Given the description of an element on the screen output the (x, y) to click on. 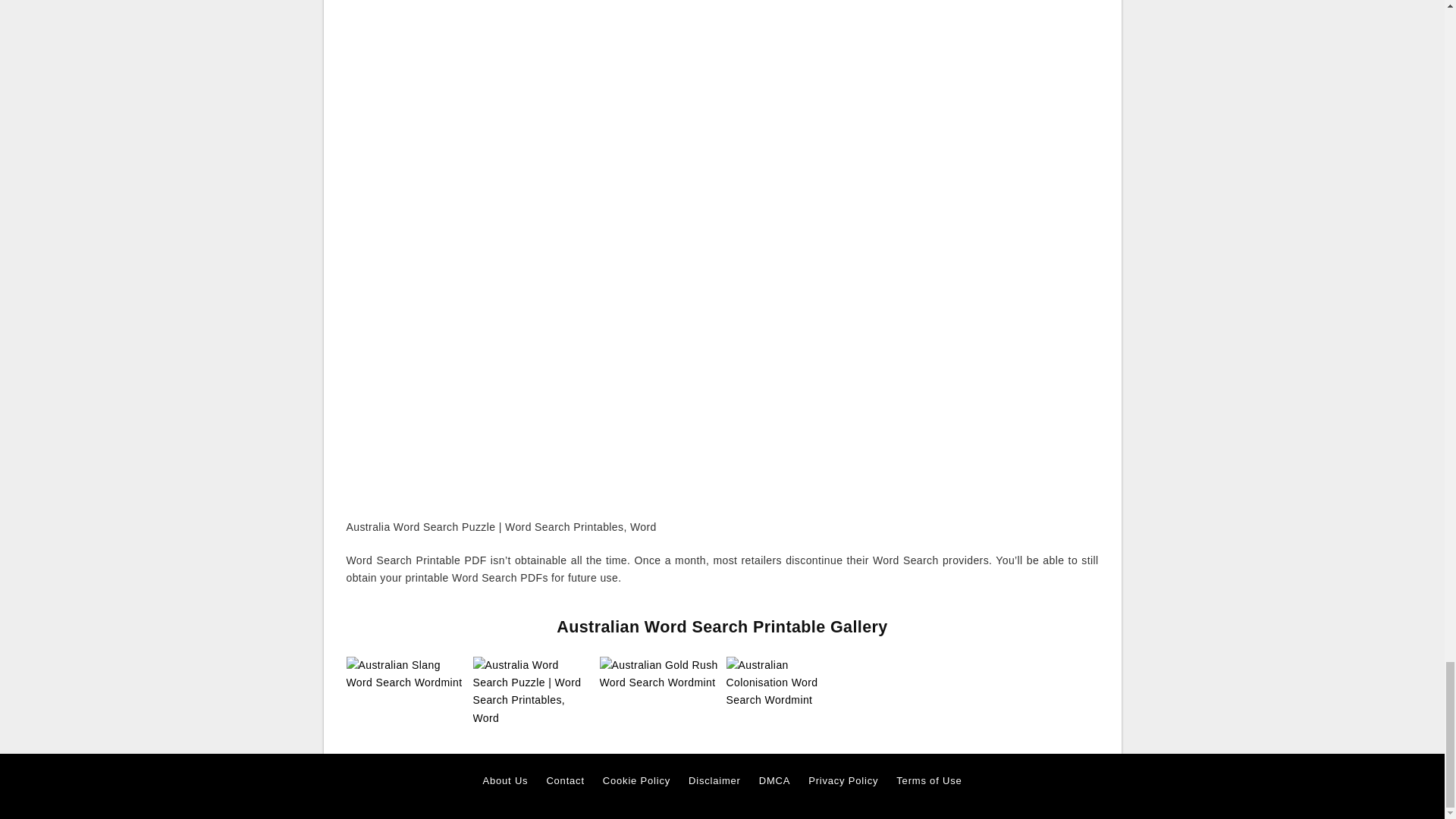
About Us (505, 781)
Disclaimer (714, 781)
Australian Slang Word Search   Wordmint (405, 673)
Terms of Use (928, 781)
Contact (564, 781)
Cookie Policy (635, 781)
Australian Colonisation Word Search   Wordmint (785, 681)
Australian Colonisation Word Search   Wordmint (785, 683)
DMCA (774, 781)
Australian Gold Rush Word Search   Wordmint (657, 673)
